Given the description of an element on the screen output the (x, y) to click on. 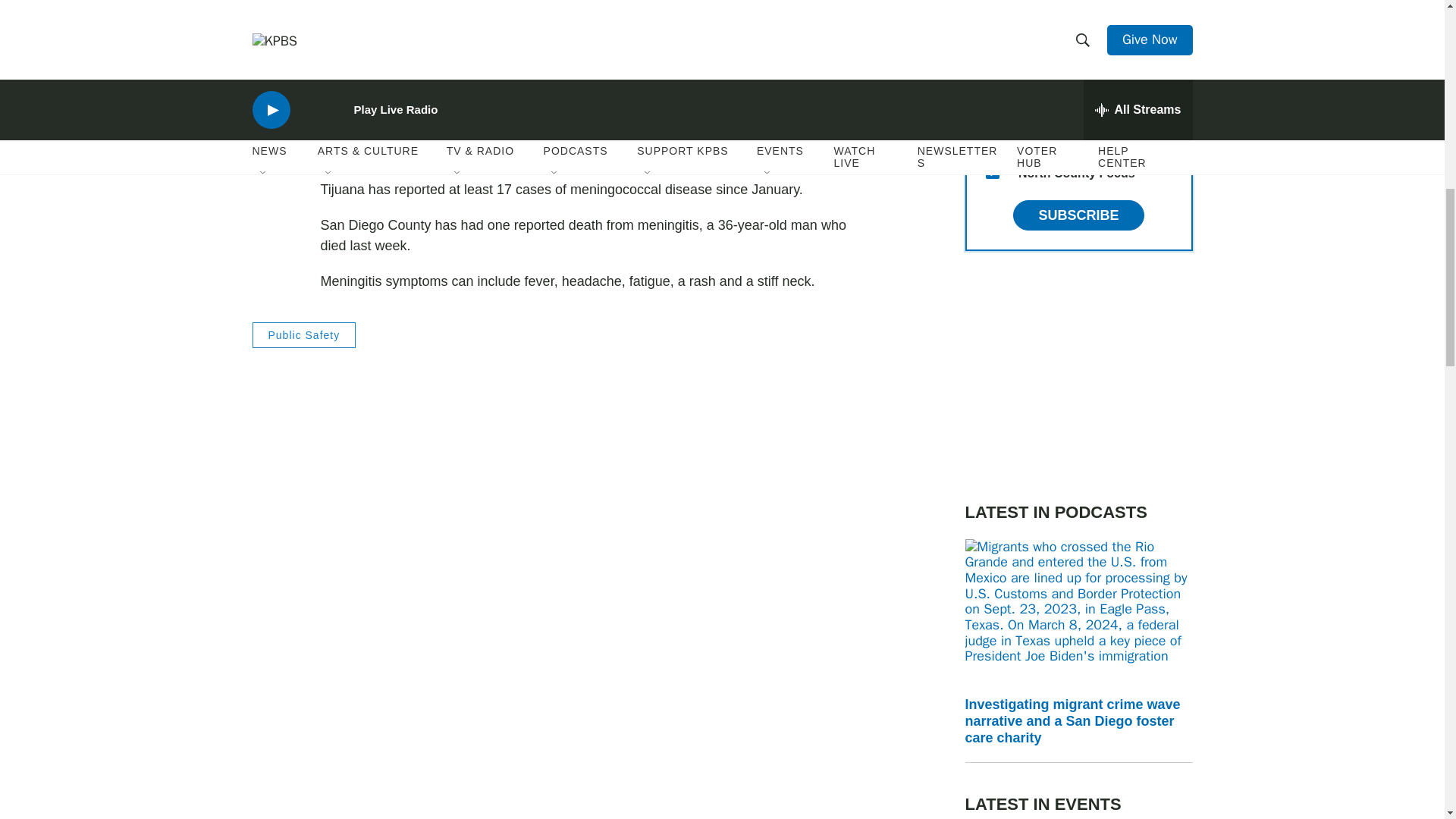
8 (991, 135)
15 (991, 172)
1 (991, 99)
6 (991, 26)
2 (991, 62)
